Given the description of an element on the screen output the (x, y) to click on. 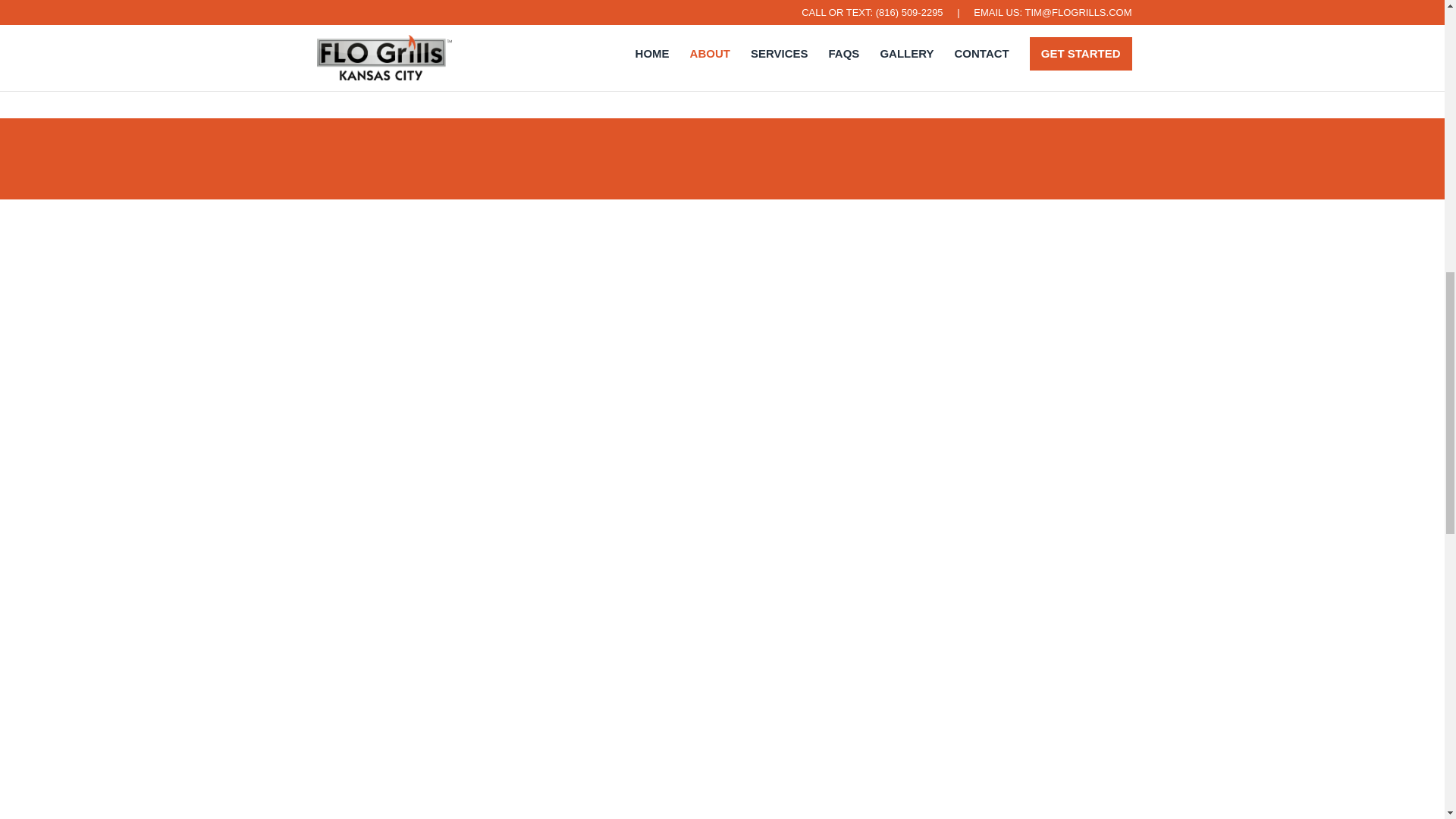
GET STARTED (669, 11)
